Given the description of an element on the screen output the (x, y) to click on. 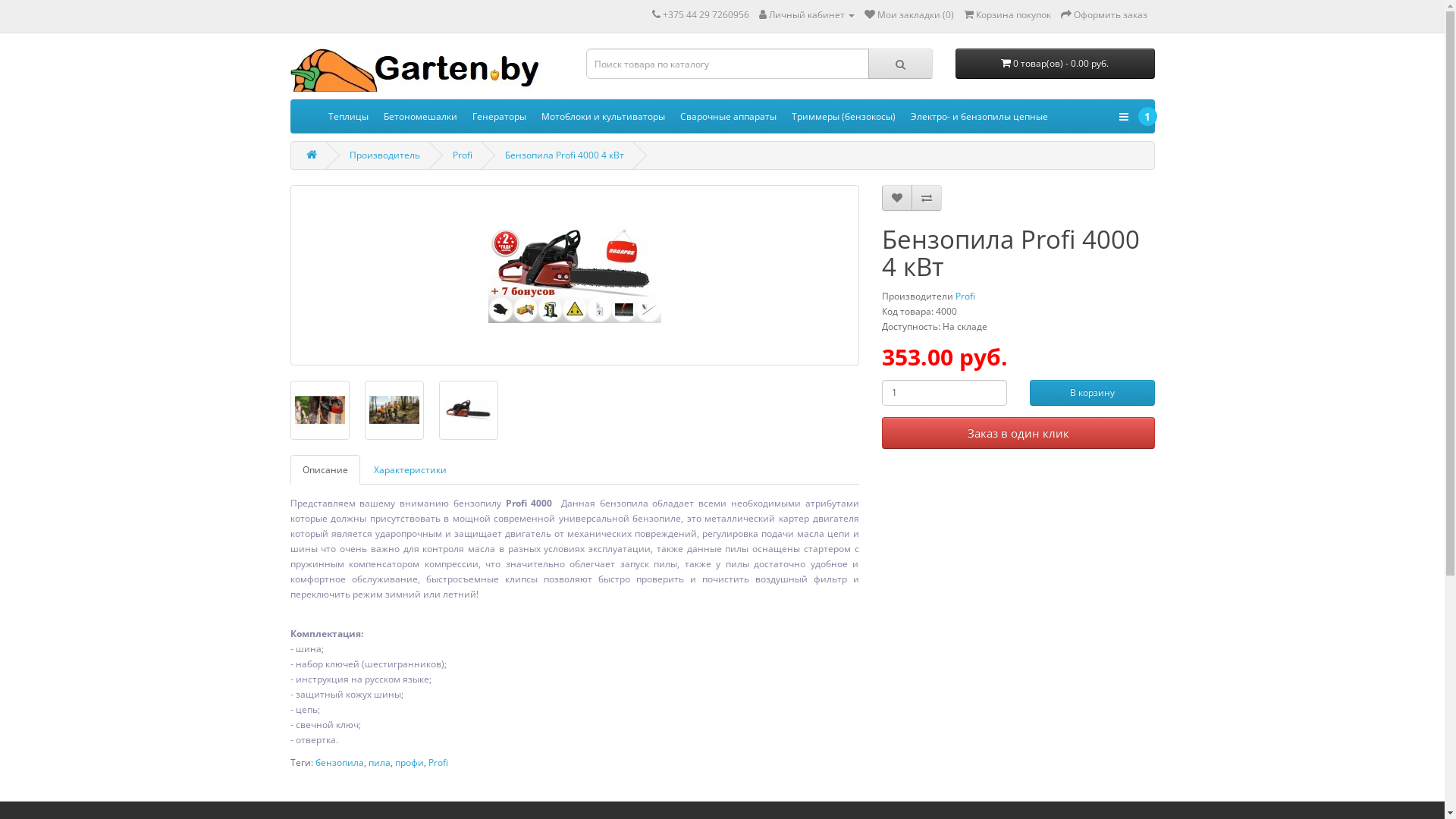
Profi Element type: text (965, 295)
Garten.by Element type: hover (416, 69)
Profi Element type: text (437, 762)
Profi Element type: text (461, 154)
